Given the description of an element on the screen output the (x, y) to click on. 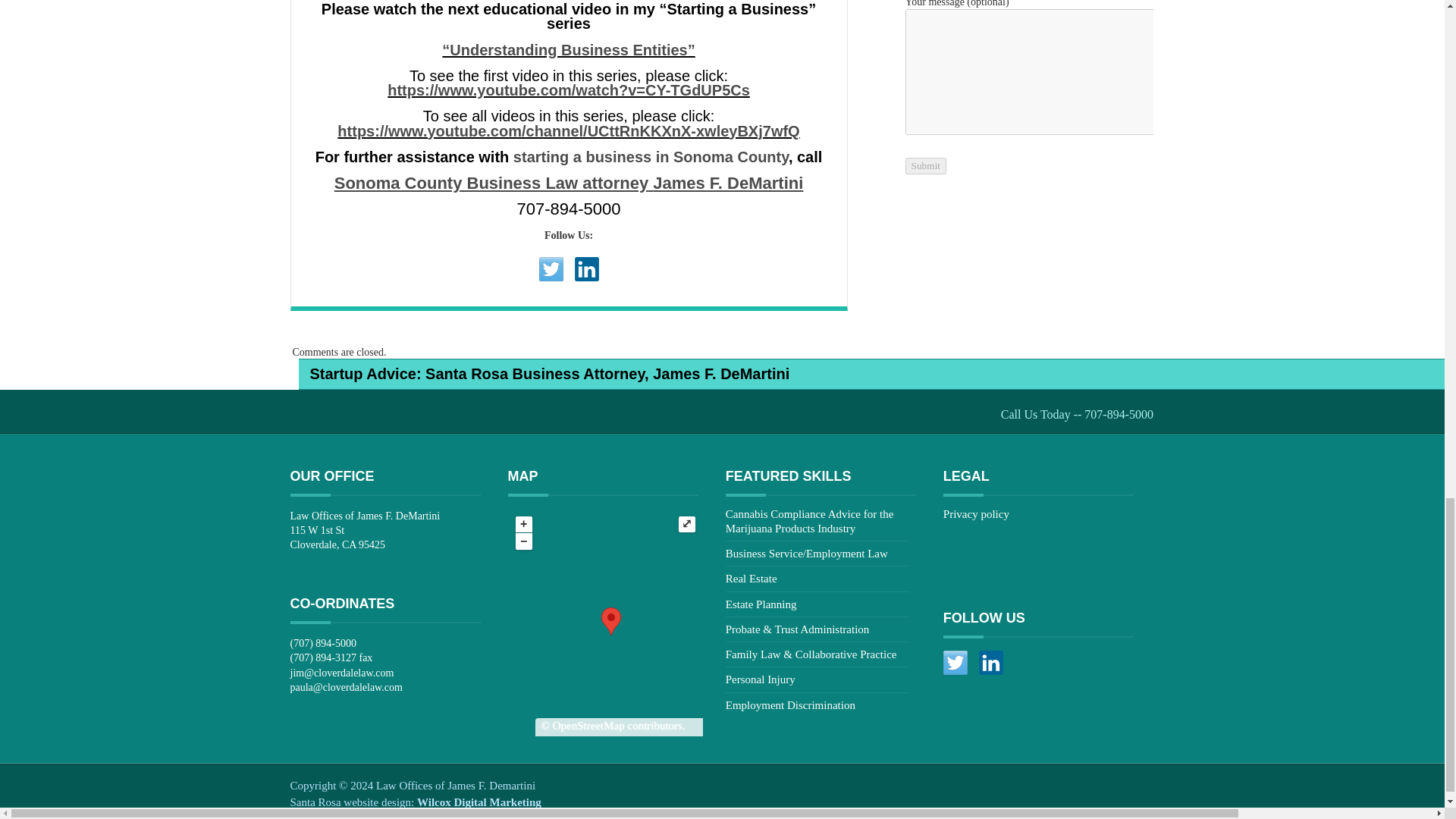
Zoom in (523, 524)
Follow us on Twitter (550, 269)
Toggle full-screen (686, 524)
Find us on Linkedin (586, 269)
Follow us on Twitter (955, 662)
Submit (926, 165)
Find us on Linkedin (990, 662)
Zoom out (523, 541)
